Given the description of an element on the screen output the (x, y) to click on. 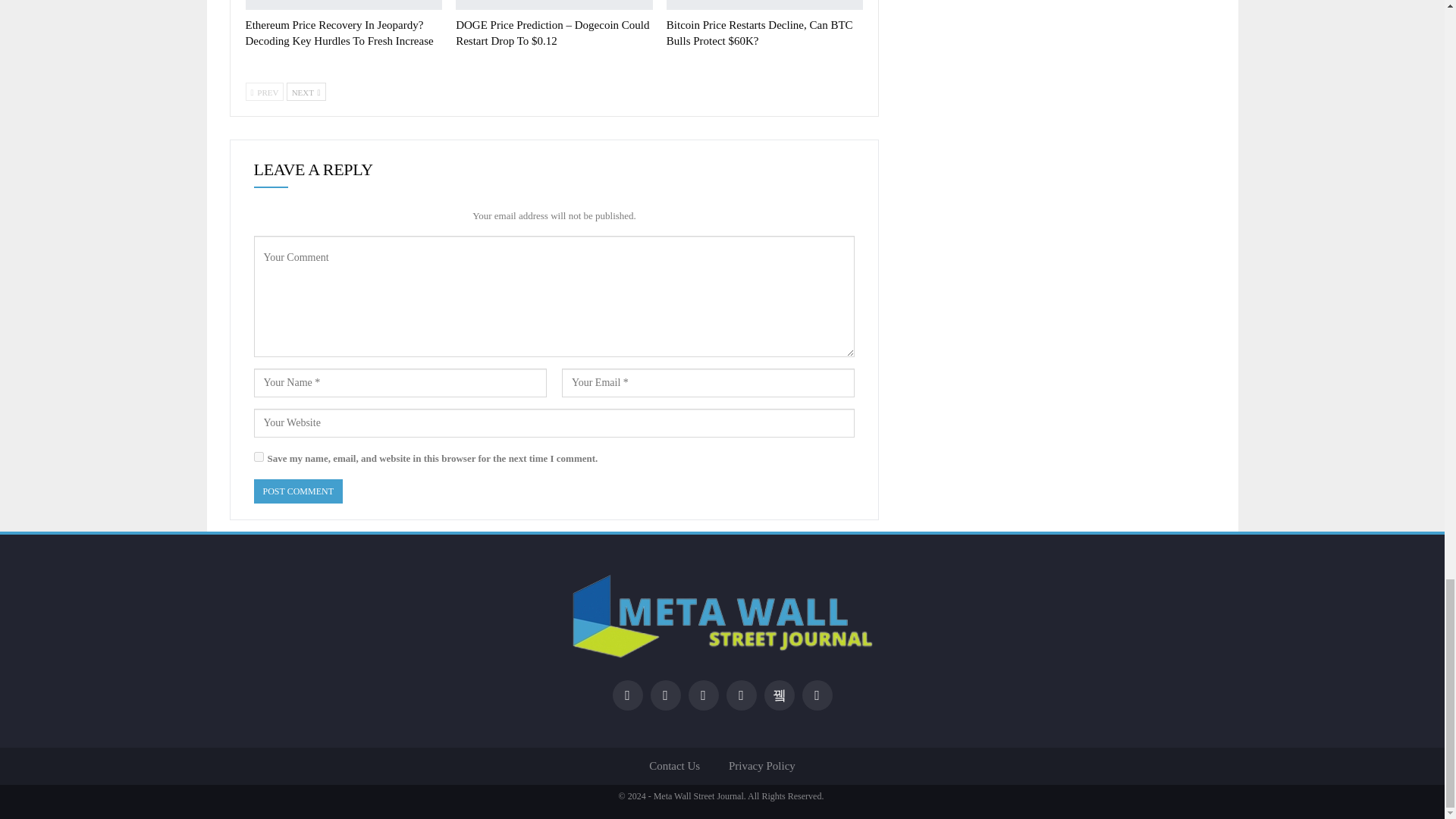
Post Comment (297, 491)
yes (258, 456)
